Given the description of an element on the screen output the (x, y) to click on. 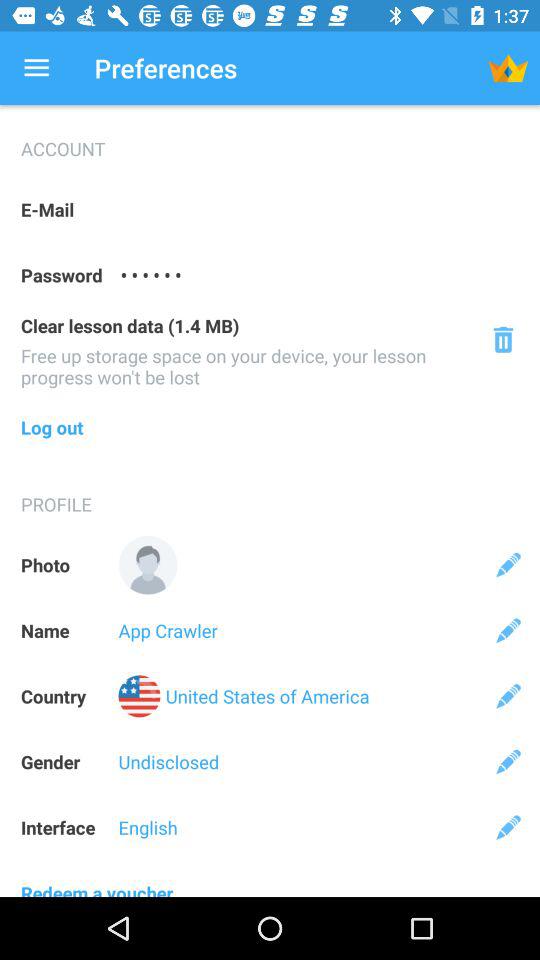
deletes data (502, 339)
